Given the description of an element on the screen output the (x, y) to click on. 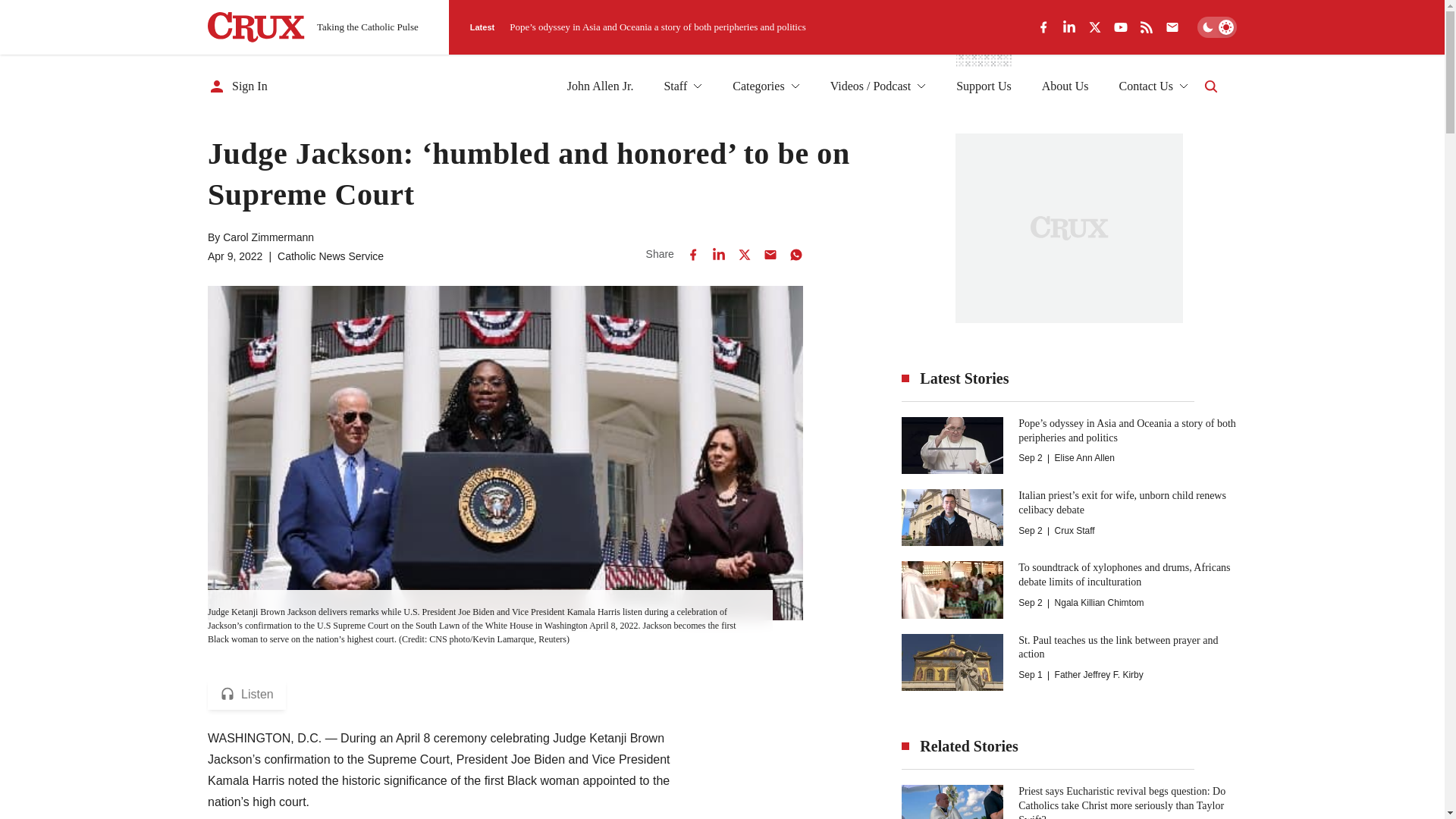
Support Us (983, 85)
Contact Us (1153, 85)
Staff (682, 85)
Sign In (237, 85)
John Allen Jr. (600, 85)
Categories (765, 85)
About Us (1065, 85)
